Given the description of an element on the screen output the (x, y) to click on. 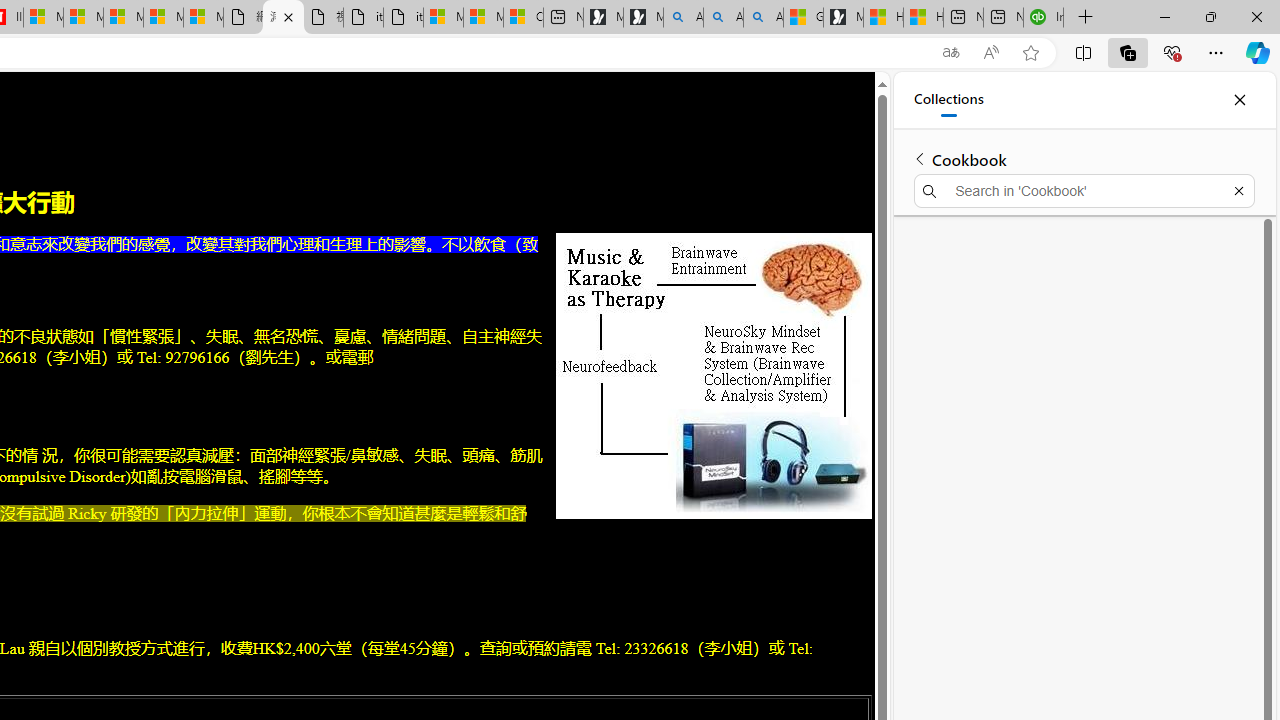
Collections (1128, 52)
Settings and more (Alt+F) (1215, 52)
